Given the description of an element on the screen output the (x, y) to click on. 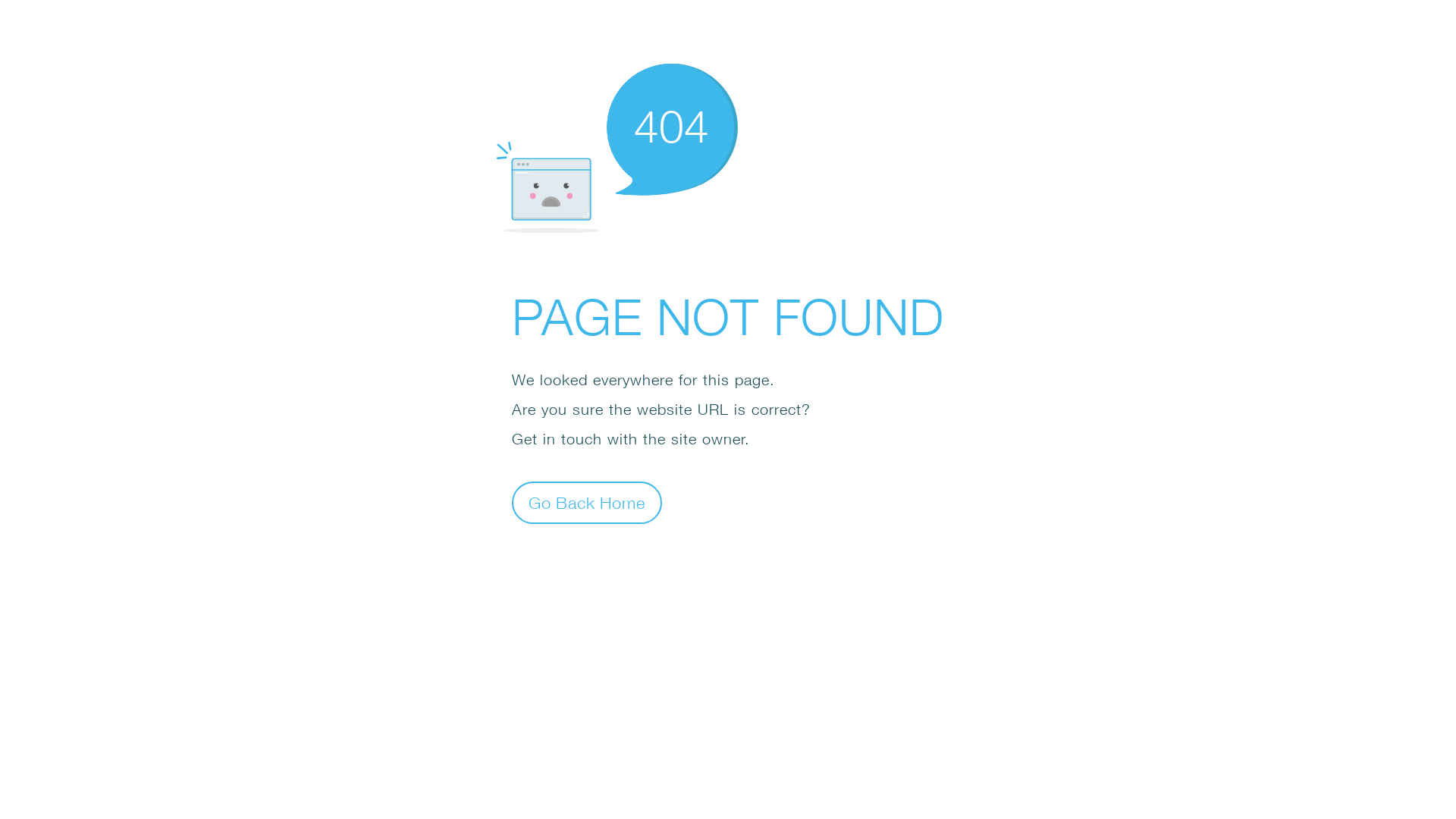
Go Back Home Element type: text (586, 502)
